Given the description of an element on the screen output the (x, y) to click on. 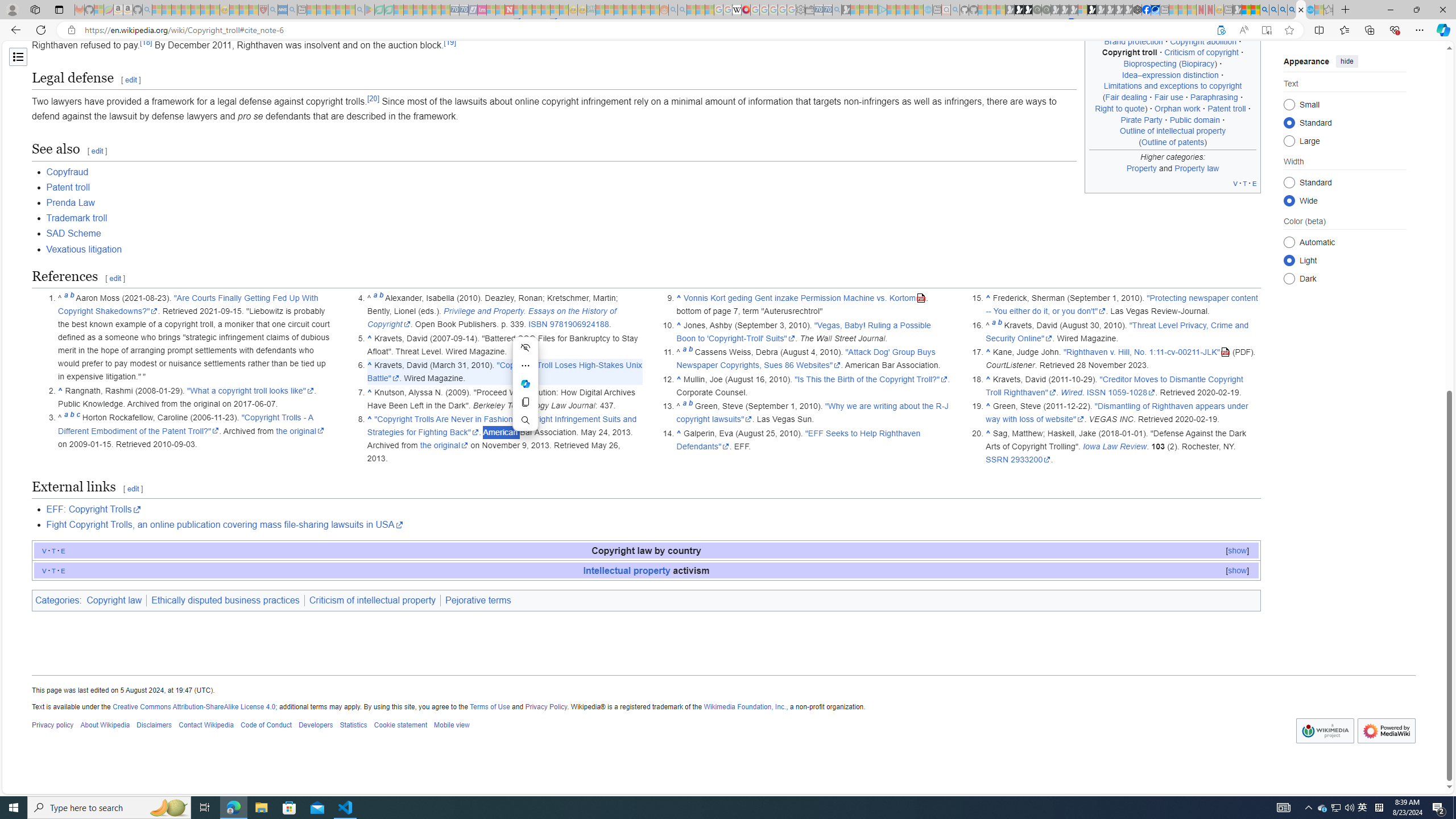
SSRN (997, 459)
More actions (525, 365)
